Given the description of an element on the screen output the (x, y) to click on. 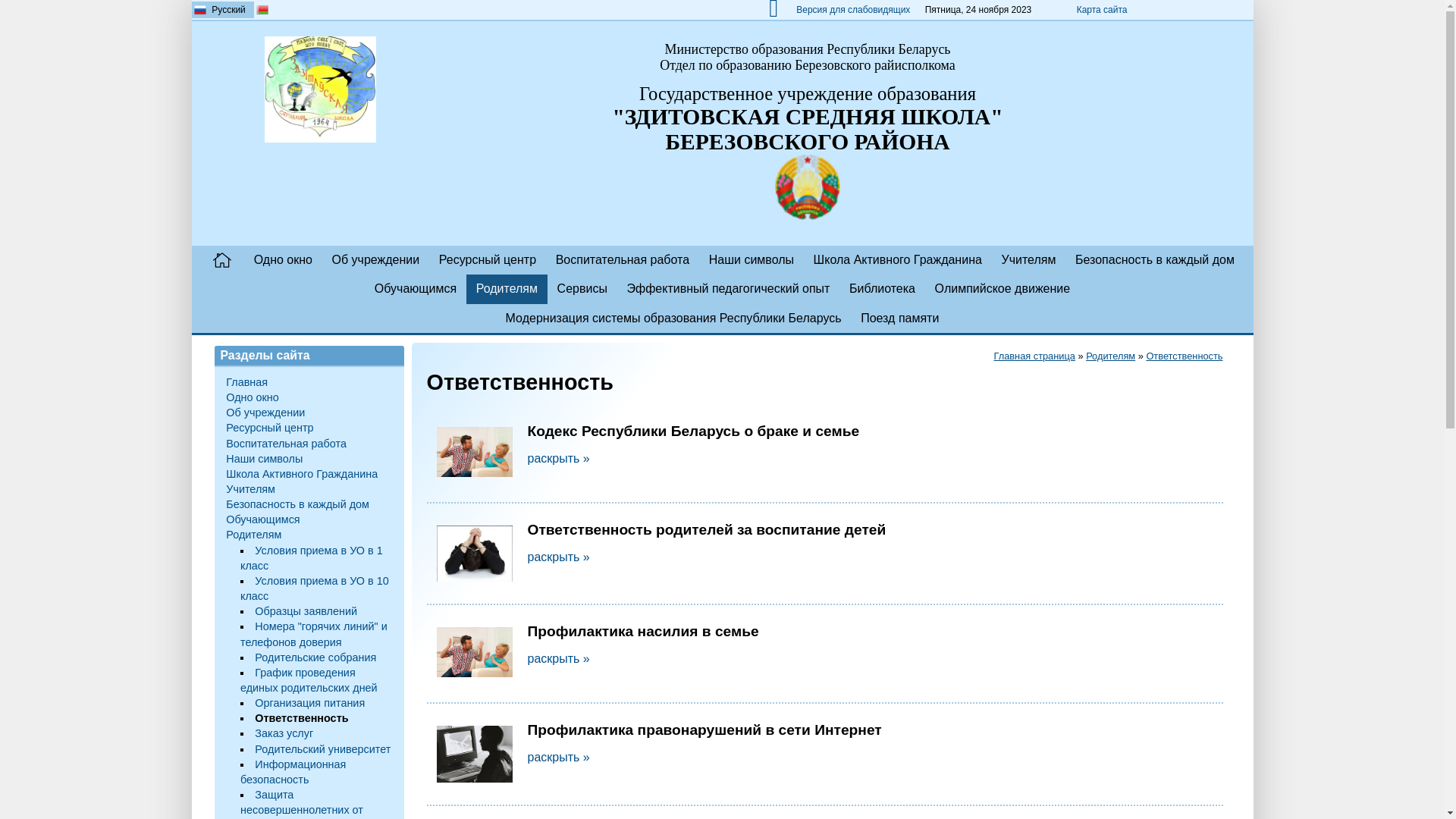
Facebook Element type: hover (1194, 9)
Google Plus Element type: hover (1244, 9)
Twitter Element type: hover (1210, 9)
